Given the description of an element on the screen output the (x, y) to click on. 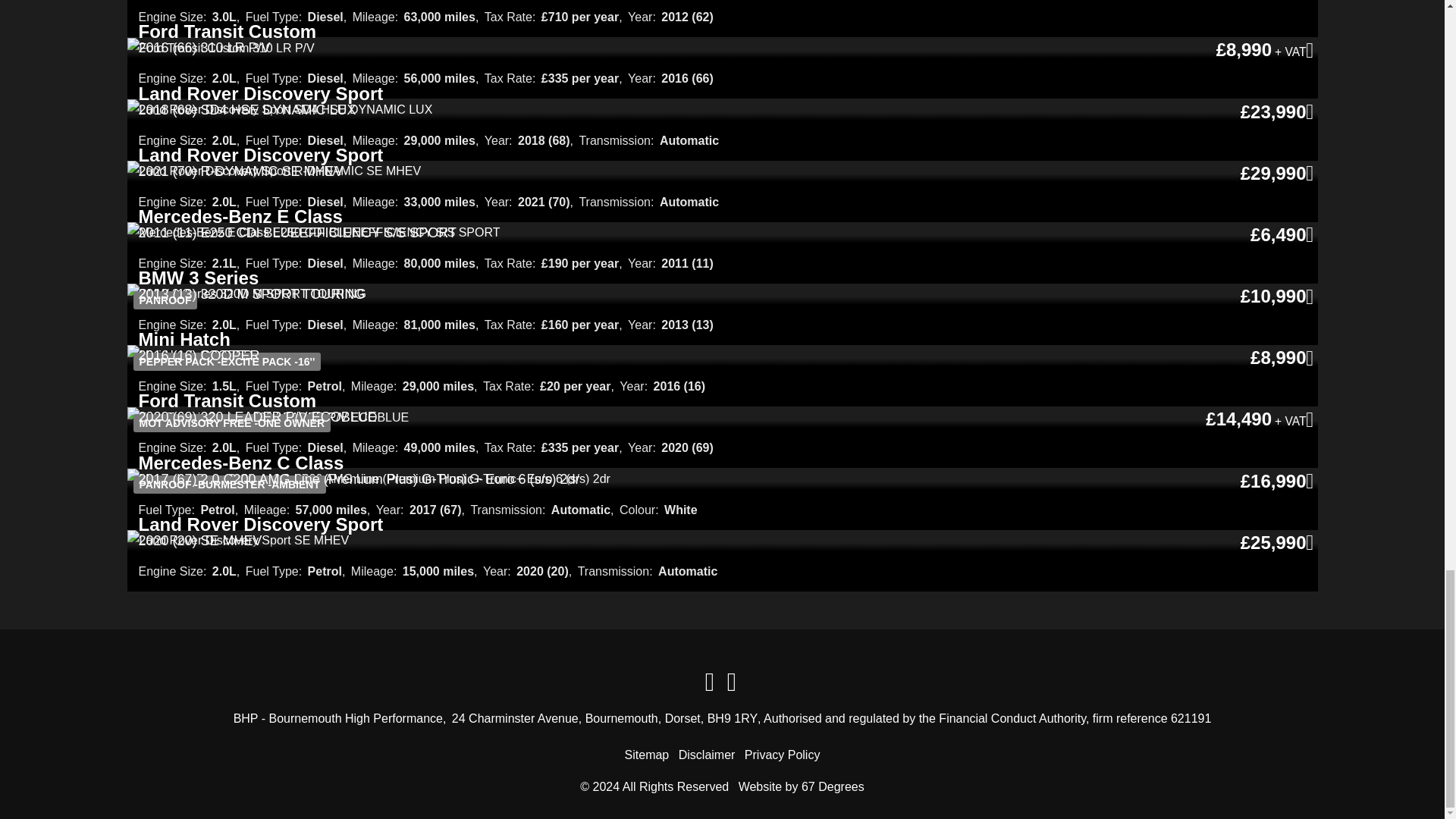
PANROOF (247, 293)
67 Degrees (833, 786)
